Given the description of an element on the screen output the (x, y) to click on. 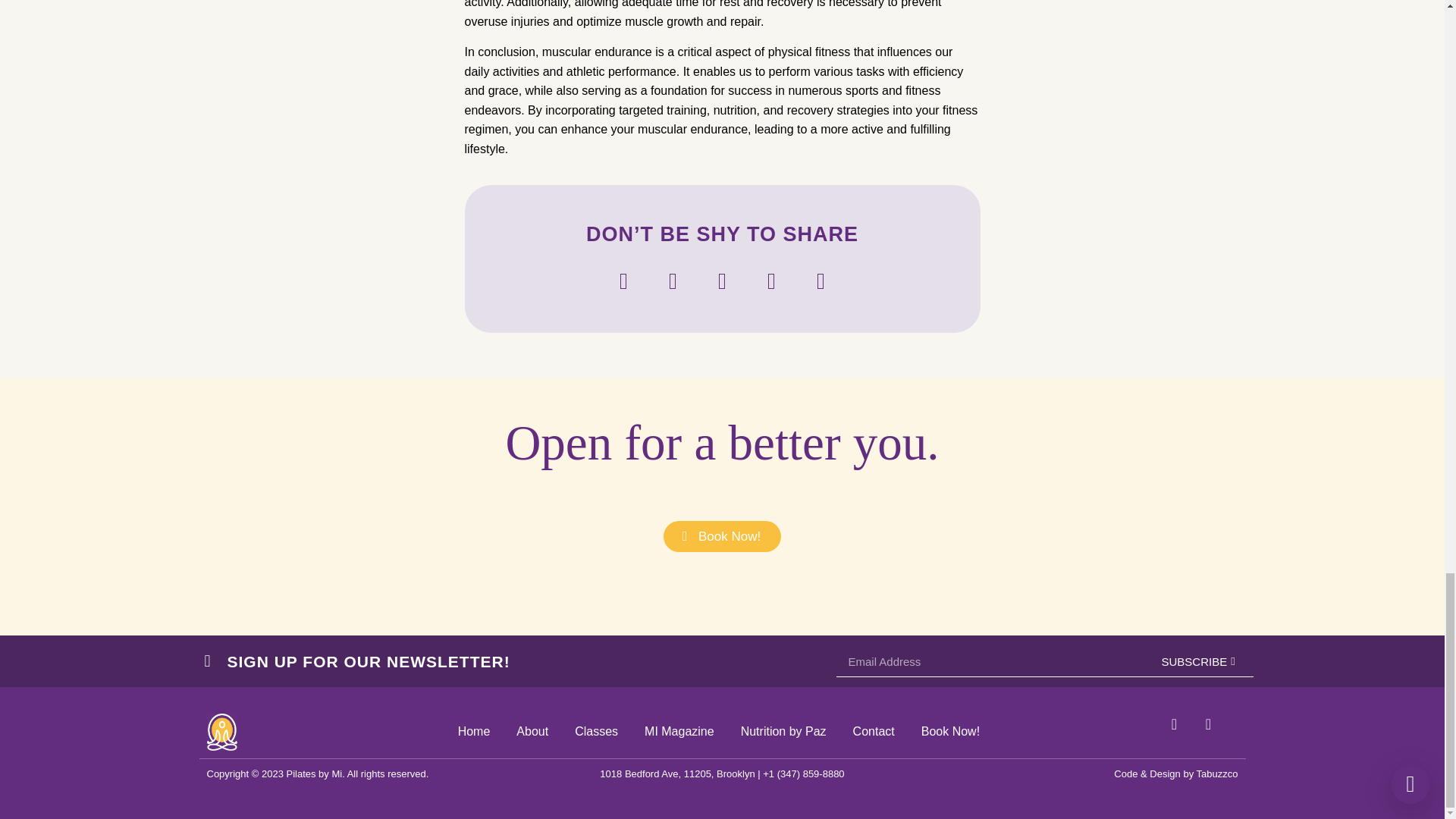
Book Now! (721, 536)
Classes (596, 731)
About (532, 731)
Home (474, 731)
MI Magazine (679, 731)
Contact (874, 731)
SUBSCRIBE (1197, 662)
Nutrition by Paz (784, 731)
Book Now! (950, 731)
